Given the description of an element on the screen output the (x, y) to click on. 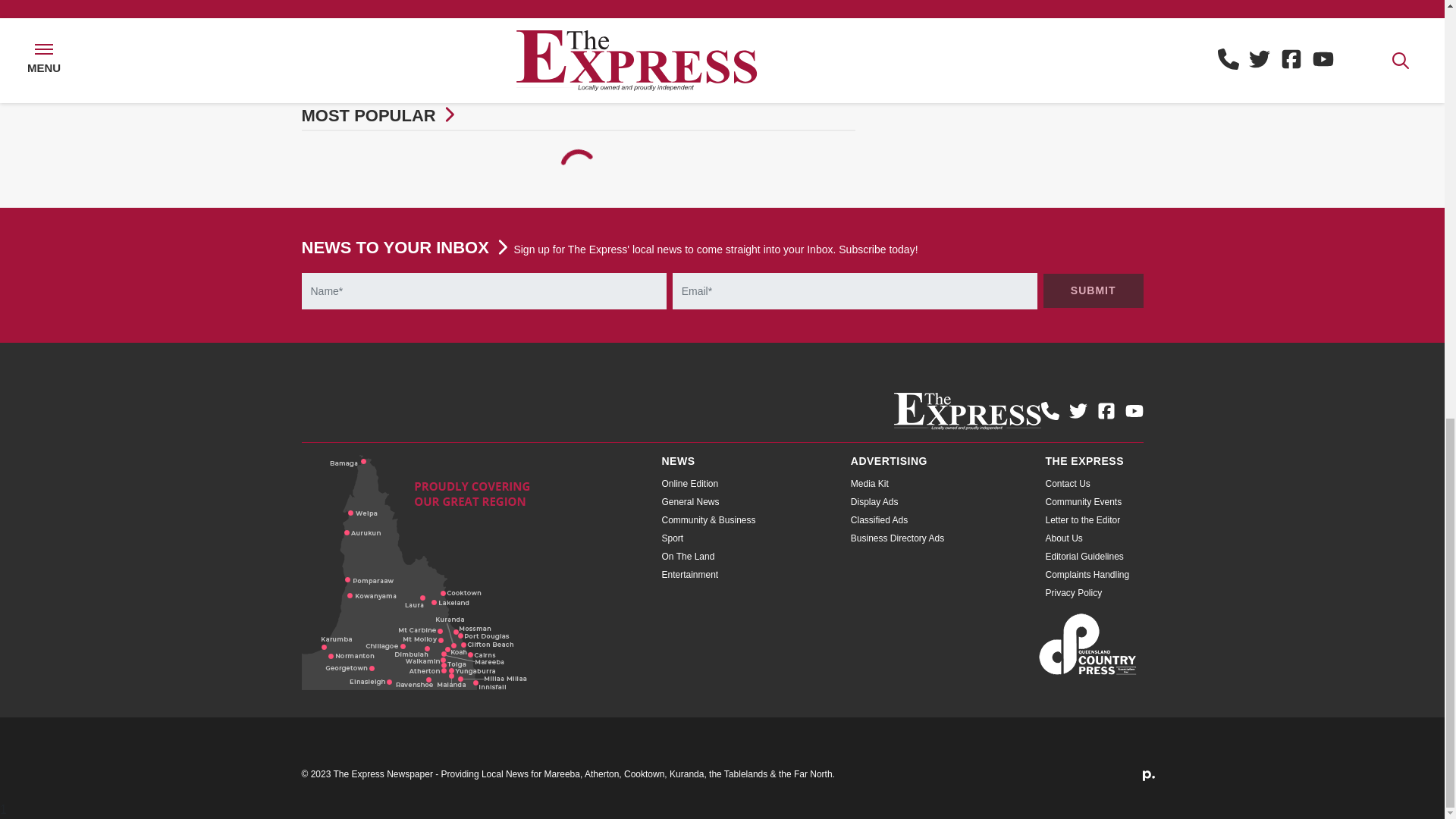
Submit (1092, 290)
Media Kit (869, 483)
Entertainment (689, 574)
Submit (1092, 290)
Online Edition (689, 483)
On The Land (687, 556)
General News (690, 501)
Sport (671, 538)
Display Ads (874, 501)
